Given the description of an element on the screen output the (x, y) to click on. 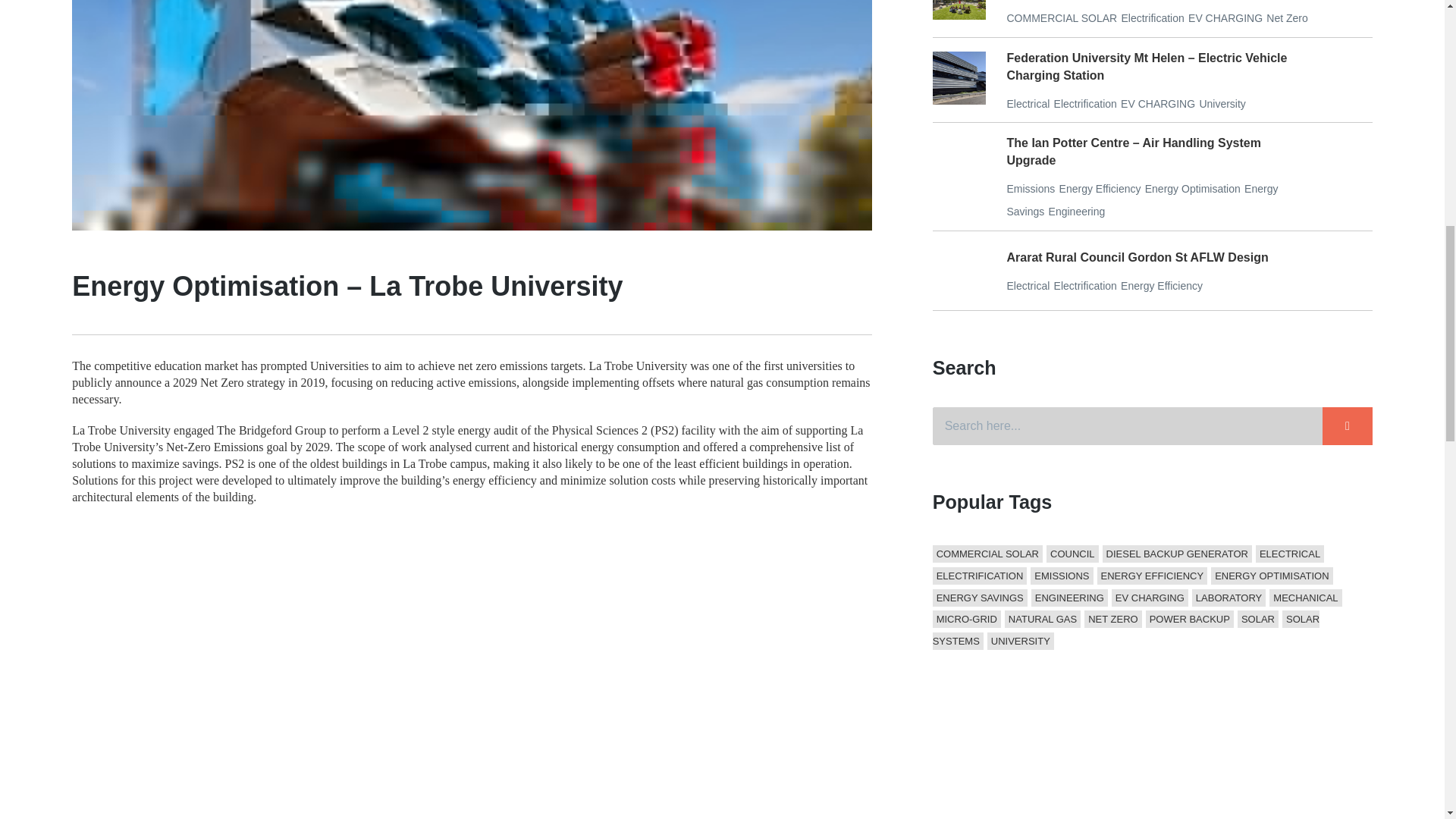
electrification (1152, 18)
net-zero (1286, 18)
electrical (1027, 103)
university (1221, 103)
ev-charging (1158, 103)
commercial-solar (1061, 18)
ev-charging (1225, 18)
emissions (1030, 188)
electrification (1085, 103)
